Given the description of an element on the screen output the (x, y) to click on. 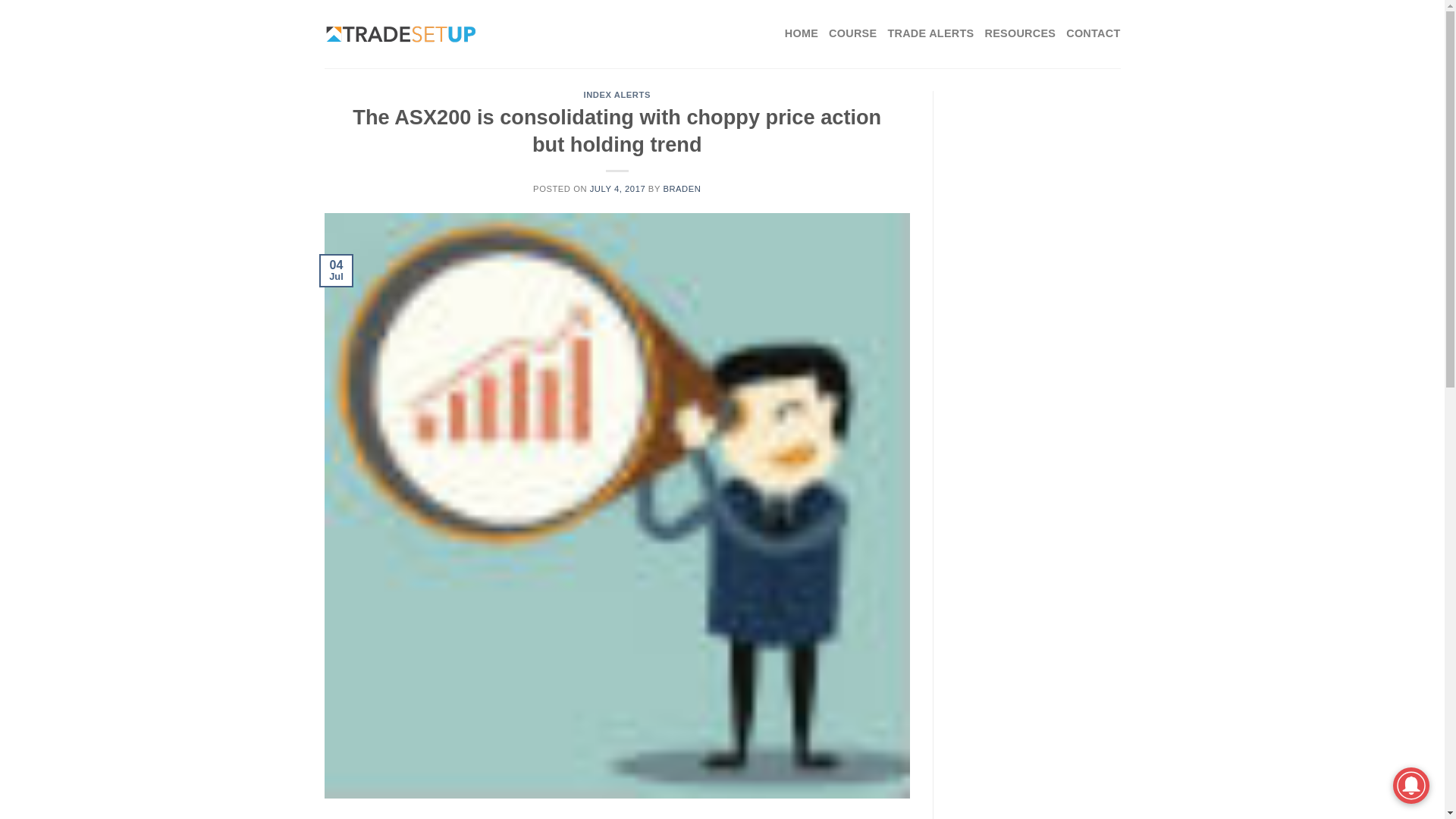
TRADE ALERTS (930, 33)
BRADEN (681, 188)
INDEX ALERTS (616, 94)
RESOURCES (1019, 33)
JULY 4, 2017 (617, 188)
HOME (801, 33)
CONTACT (1092, 33)
TradeSetup - Australia's leading Trade Alert Service (400, 34)
COURSE (852, 33)
